Given the description of an element on the screen output the (x, y) to click on. 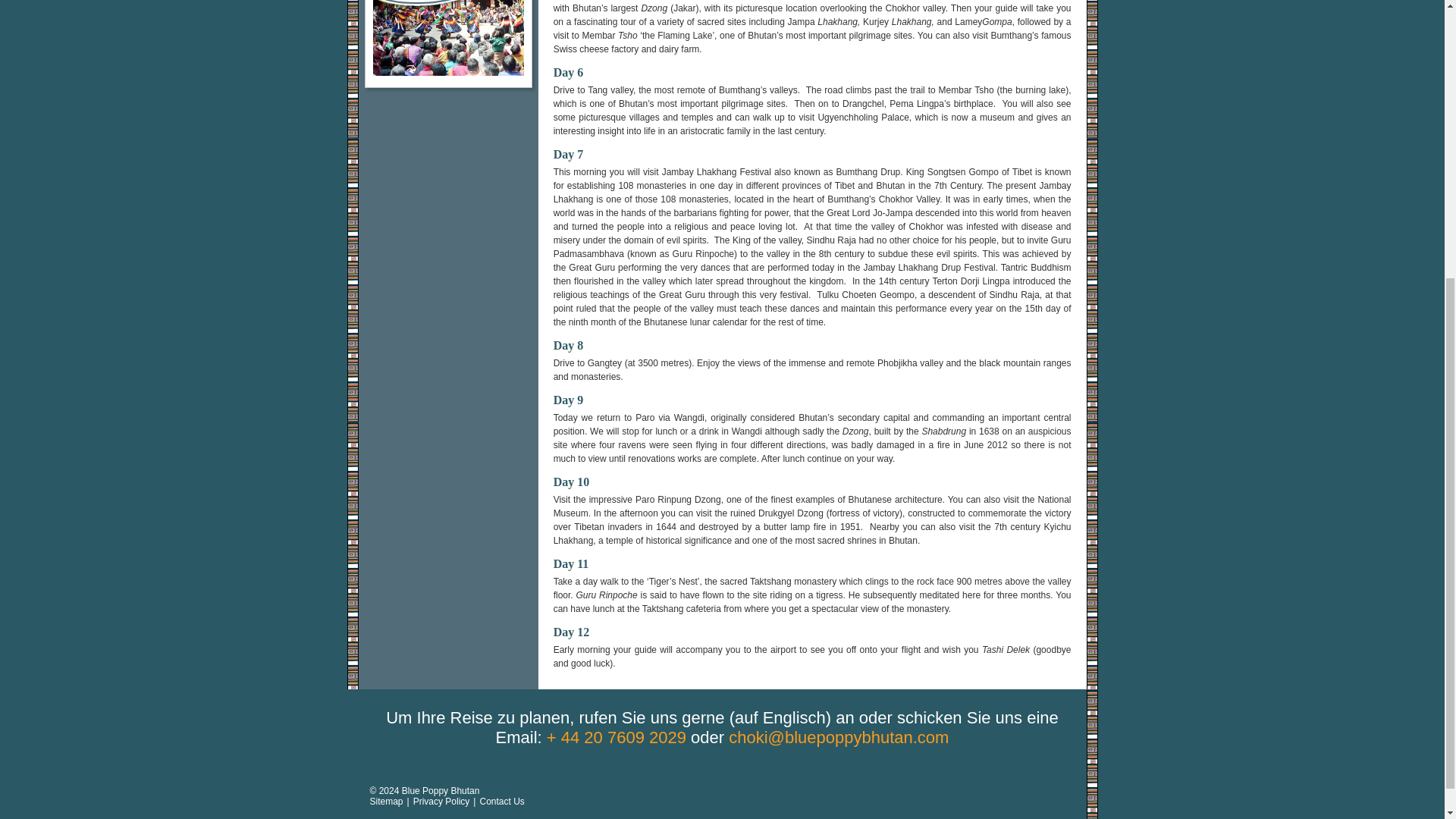
Sitemap (386, 801)
Feste (448, 39)
Contact Us (501, 801)
Privacy Policy (441, 801)
